Given the description of an element on the screen output the (x, y) to click on. 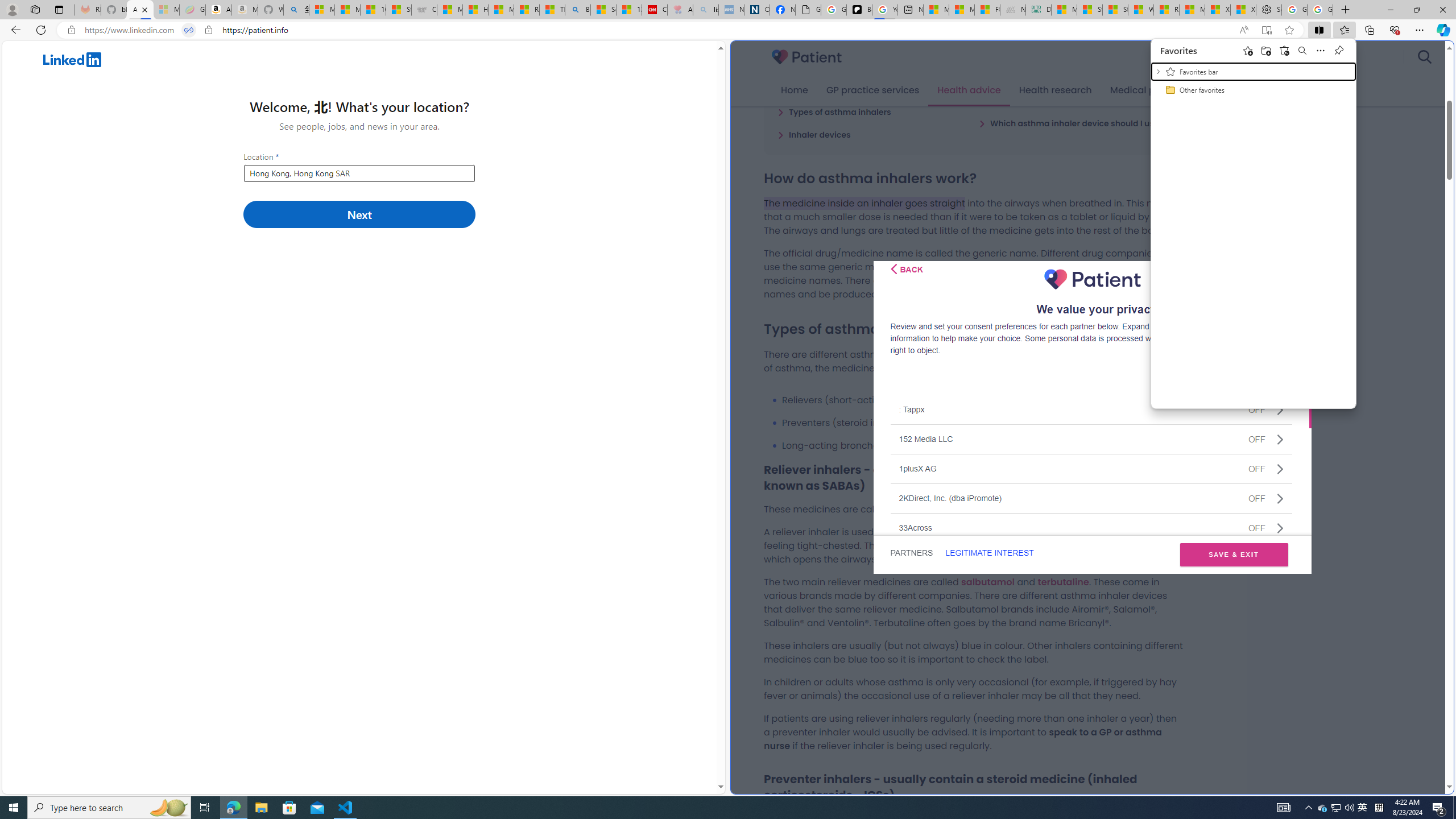
Add this page to favorites (1247, 49)
Add folder (1265, 49)
Class: css-i5klq5 (892, 268)
Arthritis: Ask Health Professionals - Sleeping (679, 9)
Microsoft Edge - 1 running window (233, 807)
terbutaline (1062, 581)
